Given the description of an element on the screen output the (x, y) to click on. 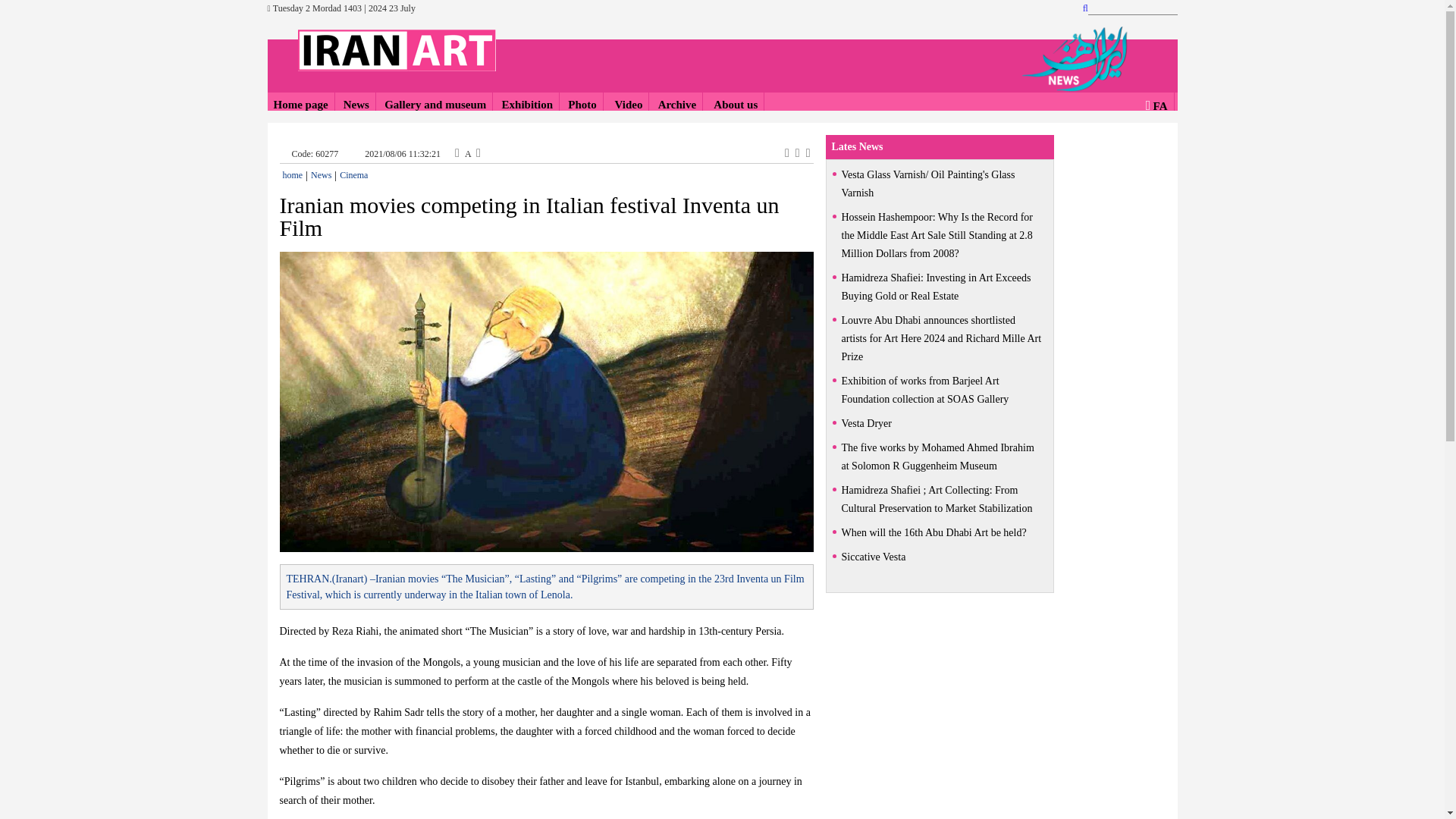
Archive (677, 104)
Home page (300, 104)
Cinema (353, 174)
Vesta Dryer (940, 423)
 About us (734, 104)
FA (1160, 105)
News (321, 174)
Vesta Dryer (940, 423)
When will the 16th Abu Dhabi Art be held? (940, 533)
